Given the description of an element on the screen output the (x, y) to click on. 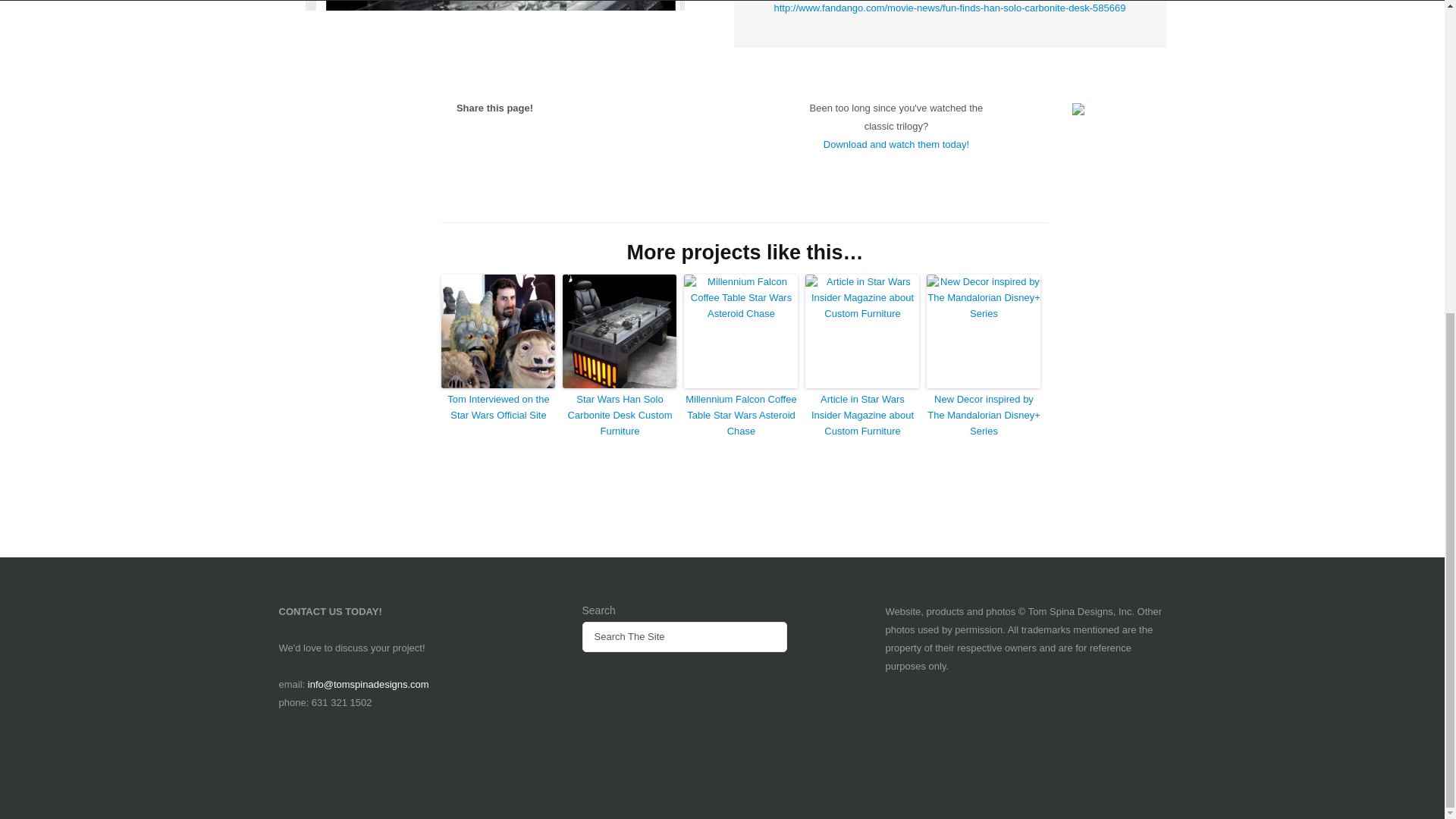
Tom Interviewed on the Star Wars Official Site (497, 408)
Millennium Falcon Coffee Table Star Wars Asteroid Chase (740, 415)
Download and watch them today! (896, 143)
Article in Star Wars Insider Magazine about Custom Furniture (861, 415)
Star Wars Han Solo Carbonite Desk Custom Furniture (619, 415)
